Given the description of an element on the screen output the (x, y) to click on. 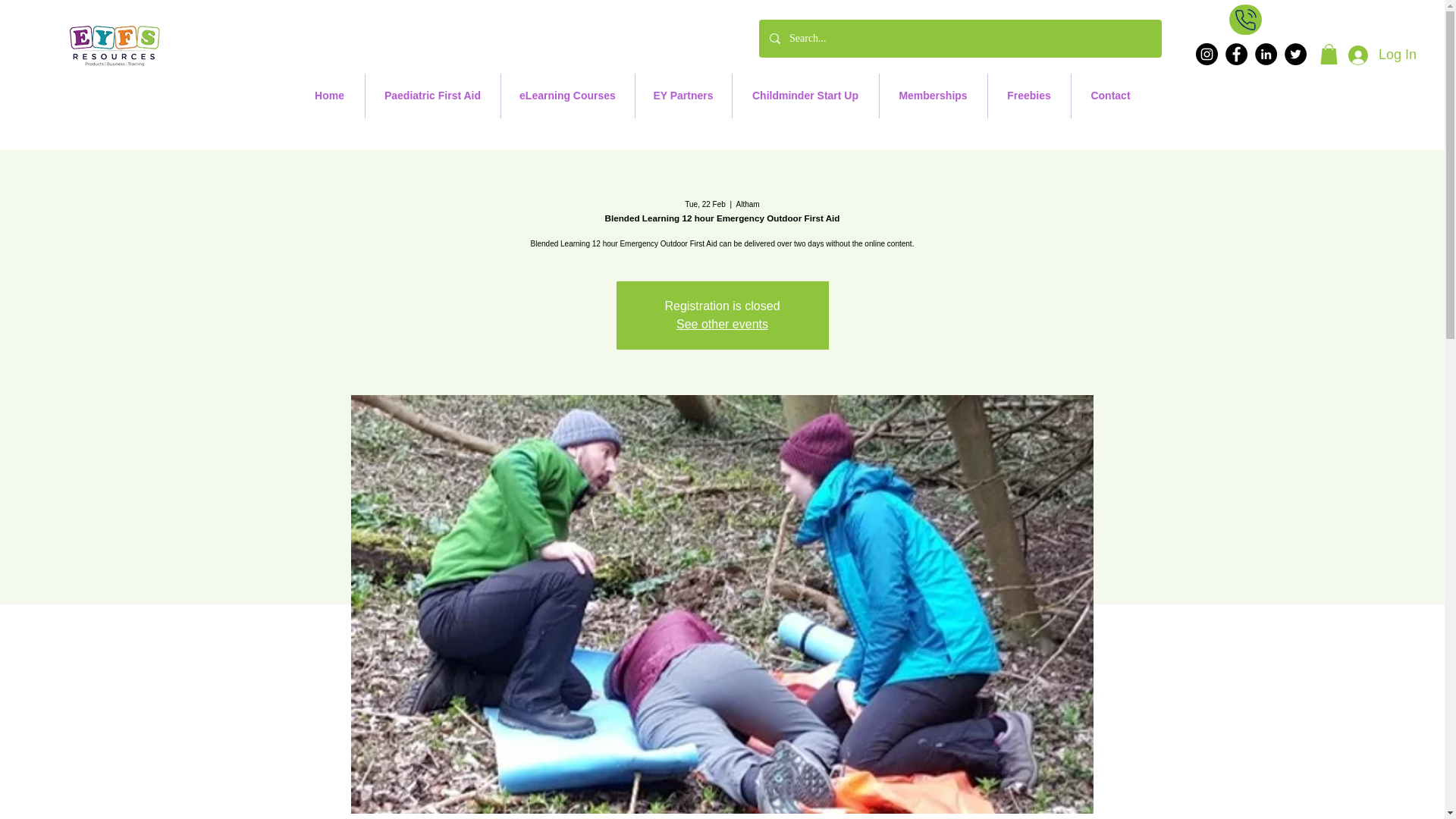
See other events (722, 323)
eLearning Courses (566, 95)
Childminder Start Up (805, 95)
Paediatric First Aid (432, 95)
Log In (1382, 55)
Memberships (933, 95)
Home (329, 95)
Contact (1110, 95)
Freebies (1028, 95)
EY Partners (683, 95)
